Given the description of an element on the screen output the (x, y) to click on. 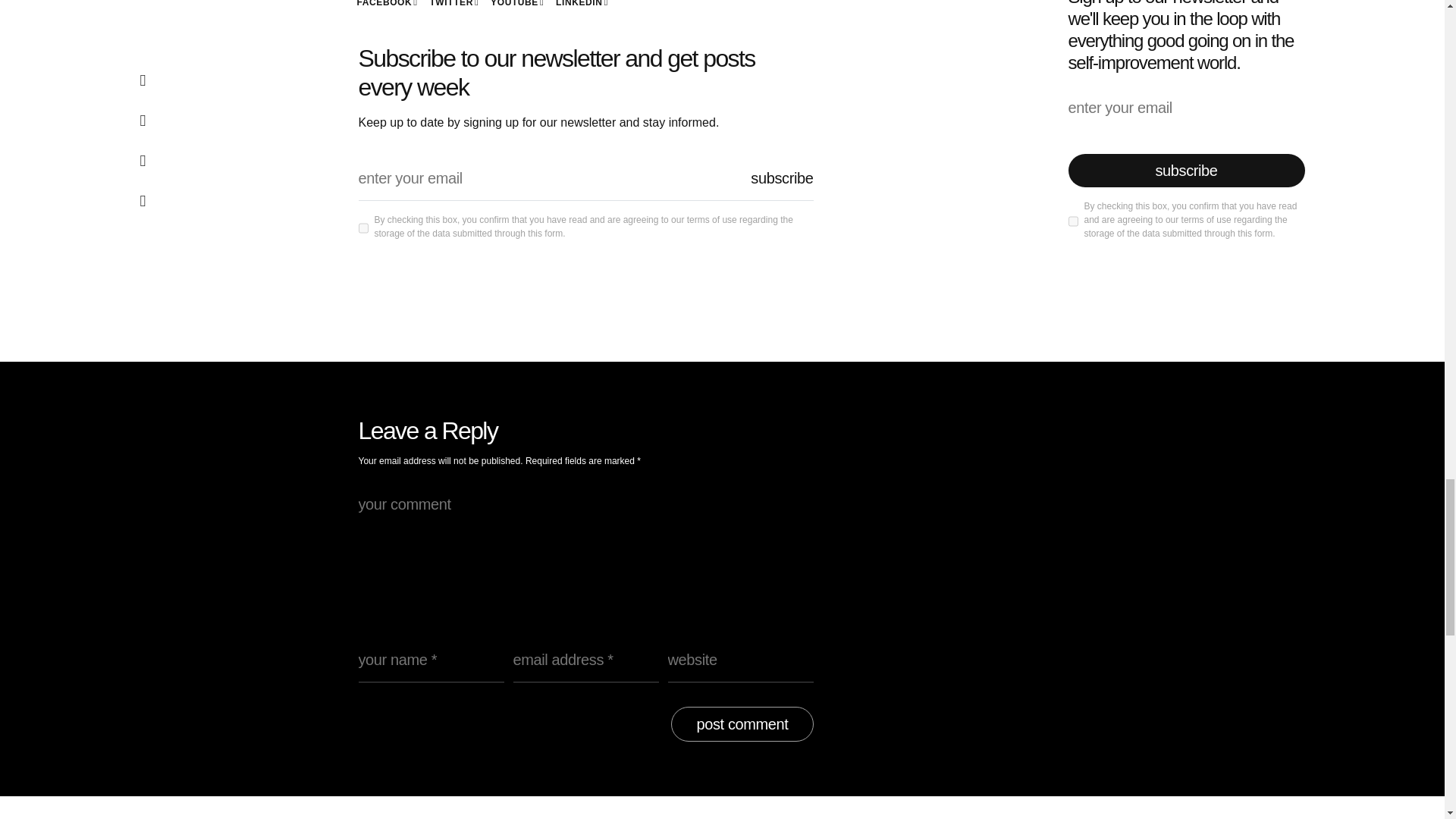
Post Comment (741, 724)
